Given the description of an element on the screen output the (x, y) to click on. 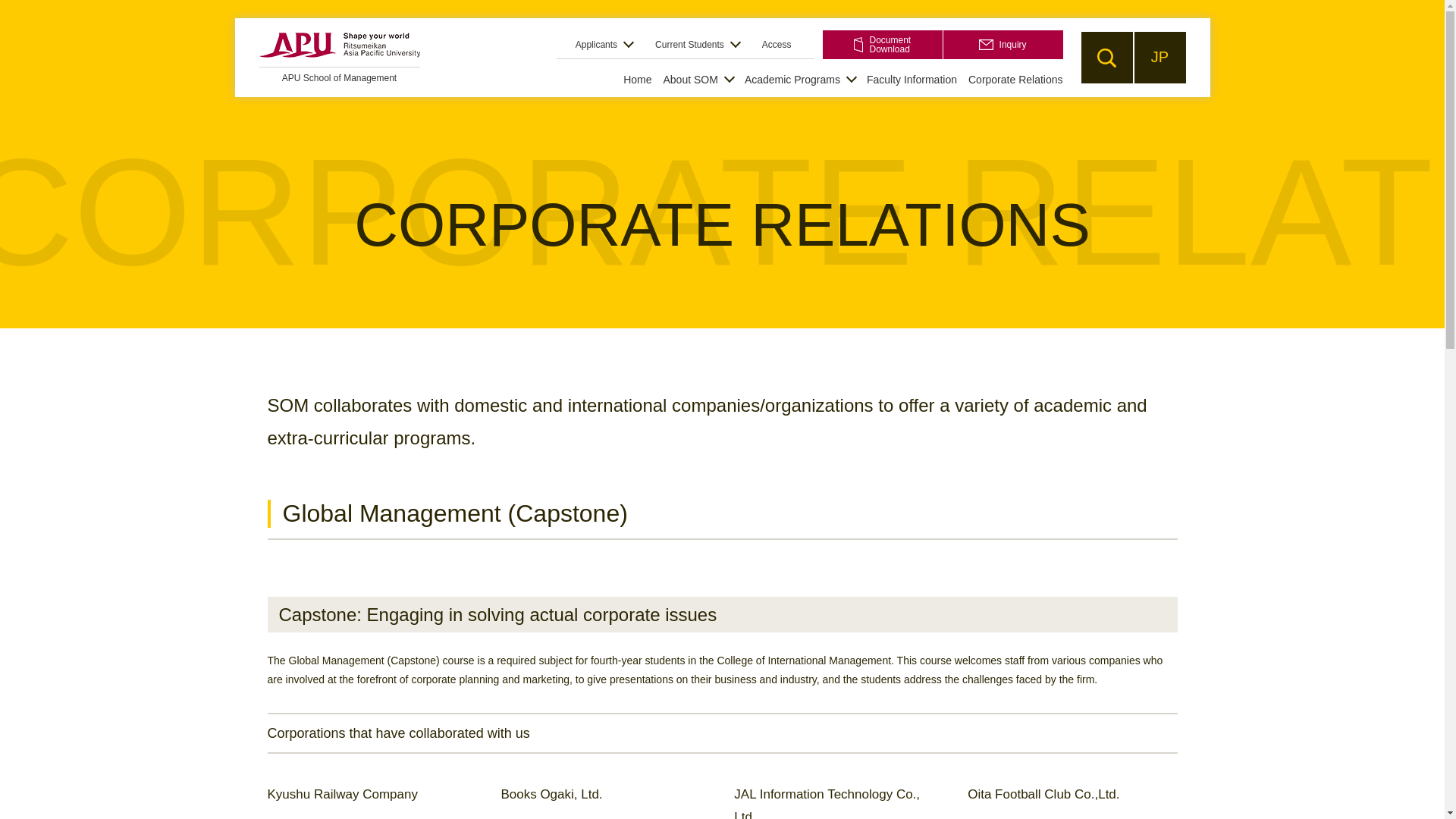
About SOM (697, 79)
Inquiry (1002, 44)
Current Students (697, 44)
Academic Programs (800, 79)
Access (776, 44)
Home (636, 79)
APU School of Management (882, 44)
Applicants (339, 74)
